Given the description of an element on the screen output the (x, y) to click on. 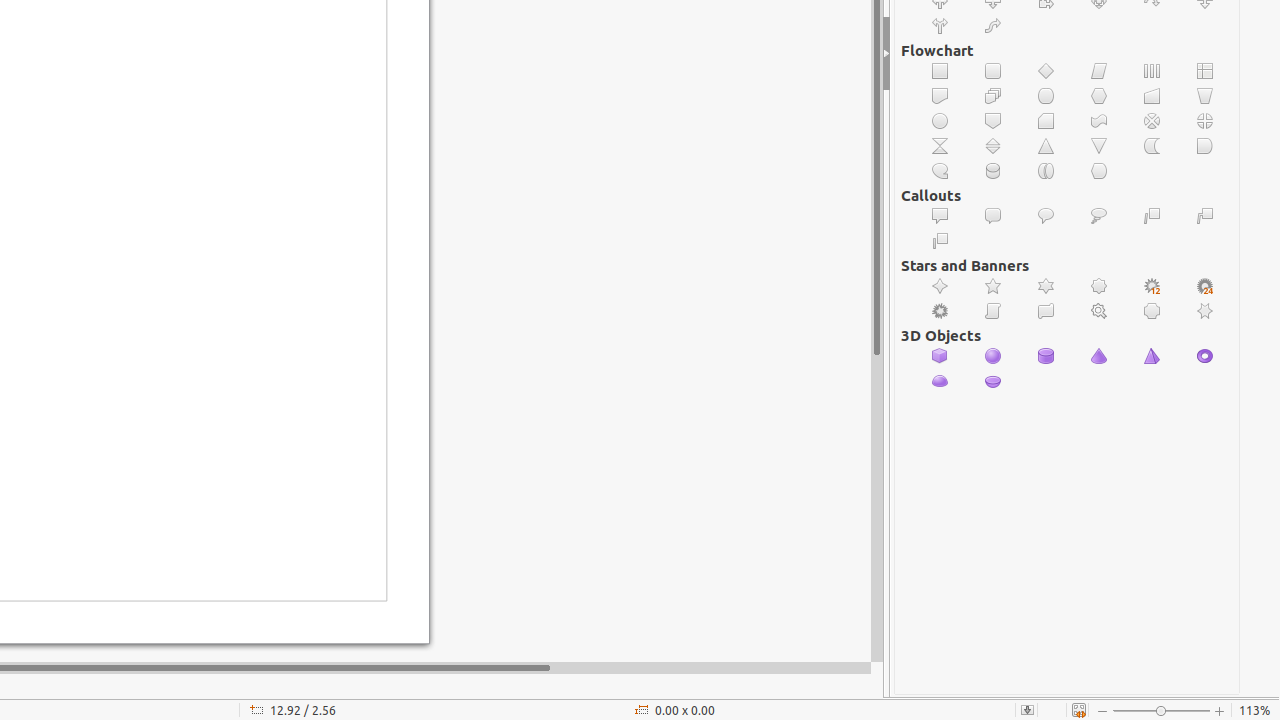
4-Point Star Element type: list-item (940, 286)
Vertical Scroll Element type: list-item (993, 311)
